Given the description of an element on the screen output the (x, y) to click on. 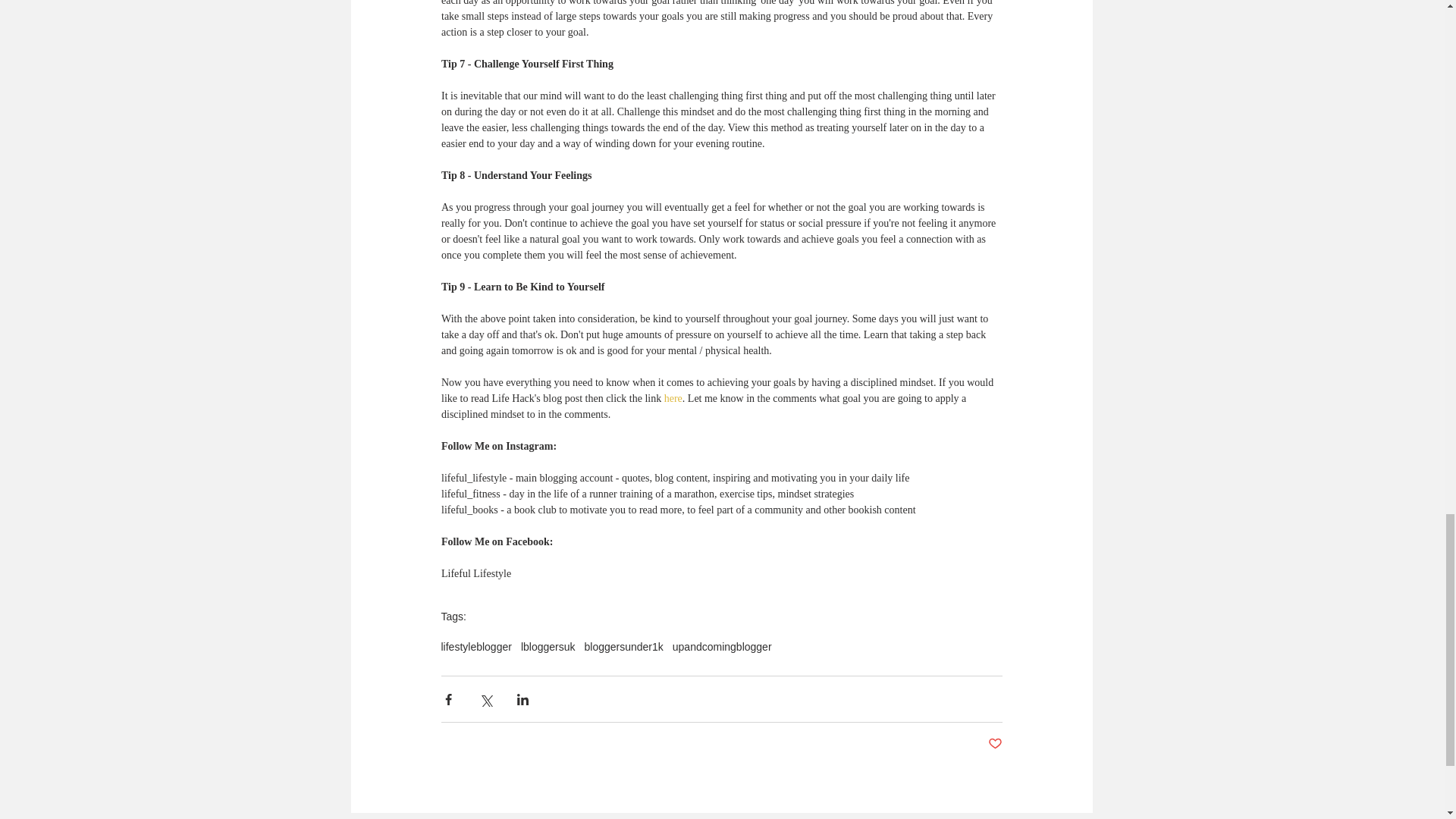
lifestyleblogger (476, 646)
upandcomingblogger (721, 646)
Post not marked as liked (994, 744)
bloggersunder1k (622, 646)
here (672, 398)
lbloggersuk (548, 646)
